Given the description of an element on the screen output the (x, y) to click on. 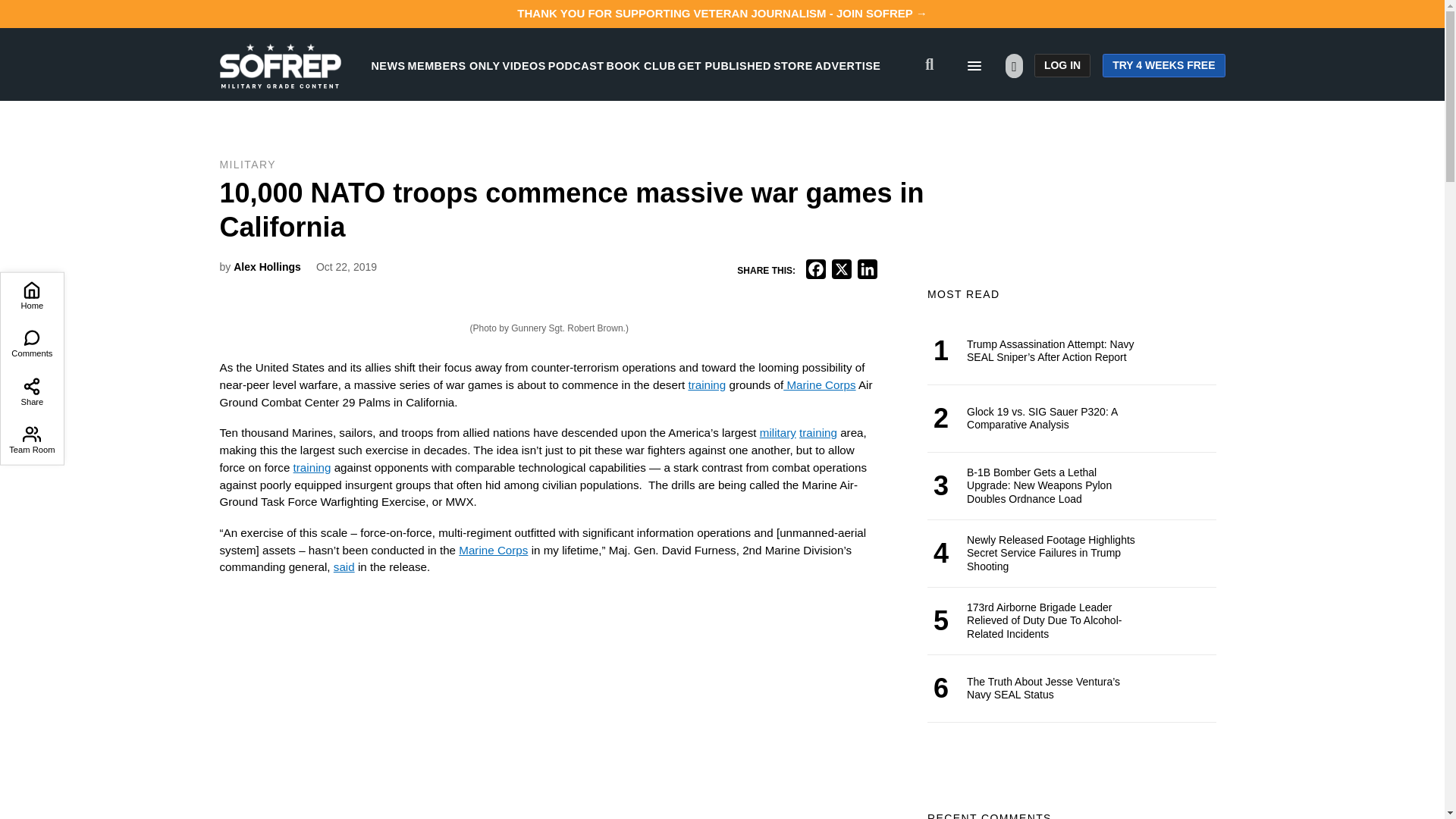
BOOK CLUB (641, 65)
NEWS (388, 65)
MEMBERS ONLY (453, 65)
GET PUBLISHED (724, 65)
ADVERTISE (847, 65)
STORE (792, 65)
VIDEOS (524, 65)
PODCAST (576, 65)
LOG IN (1061, 65)
